Given the description of an element on the screen output the (x, y) to click on. 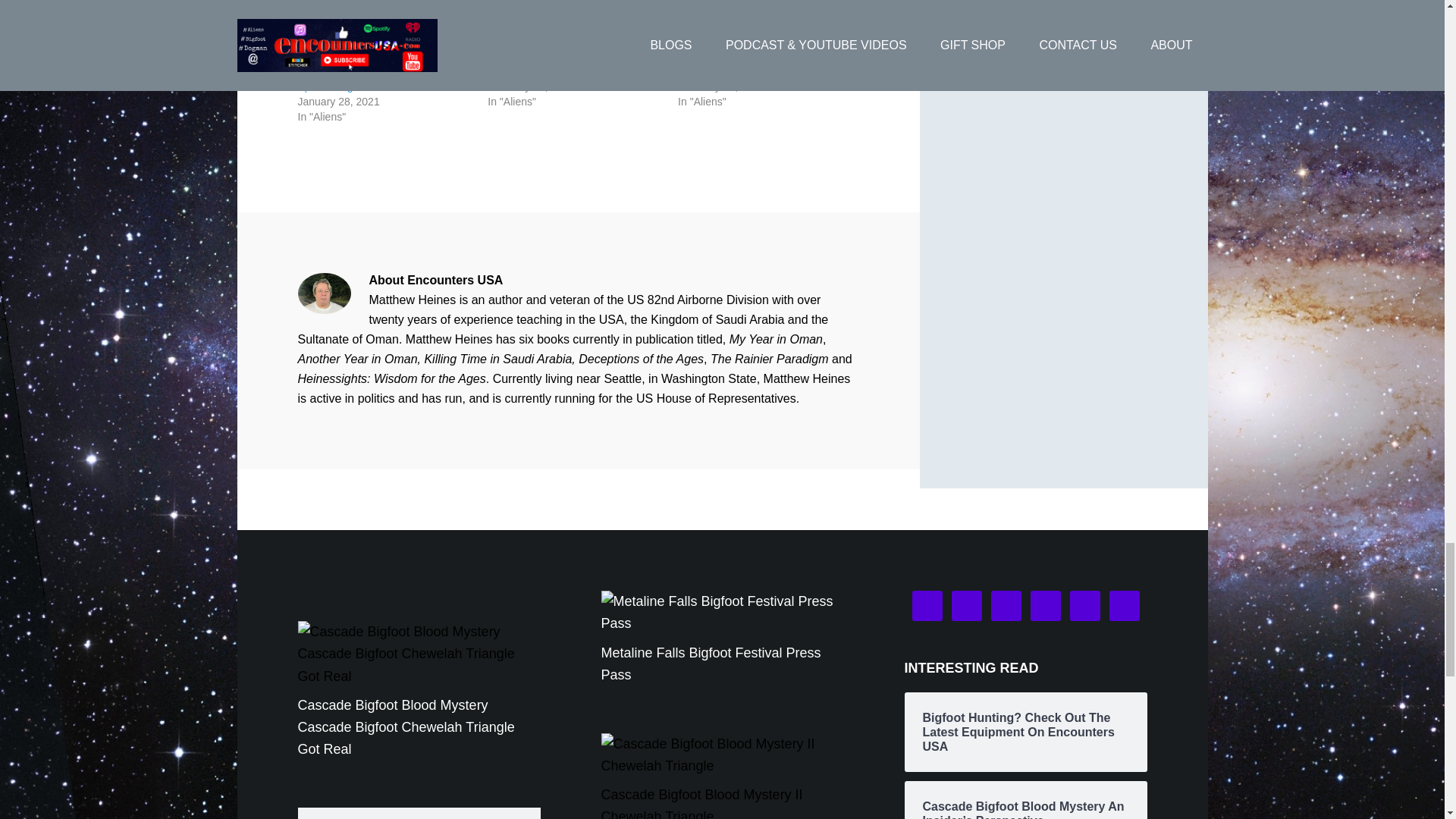
Encounters USA Podcast Episodes 51-60 (761, 62)
Encounters USA Podcast Episodes 51-60 (765, 24)
